Given the description of an element on the screen output the (x, y) to click on. 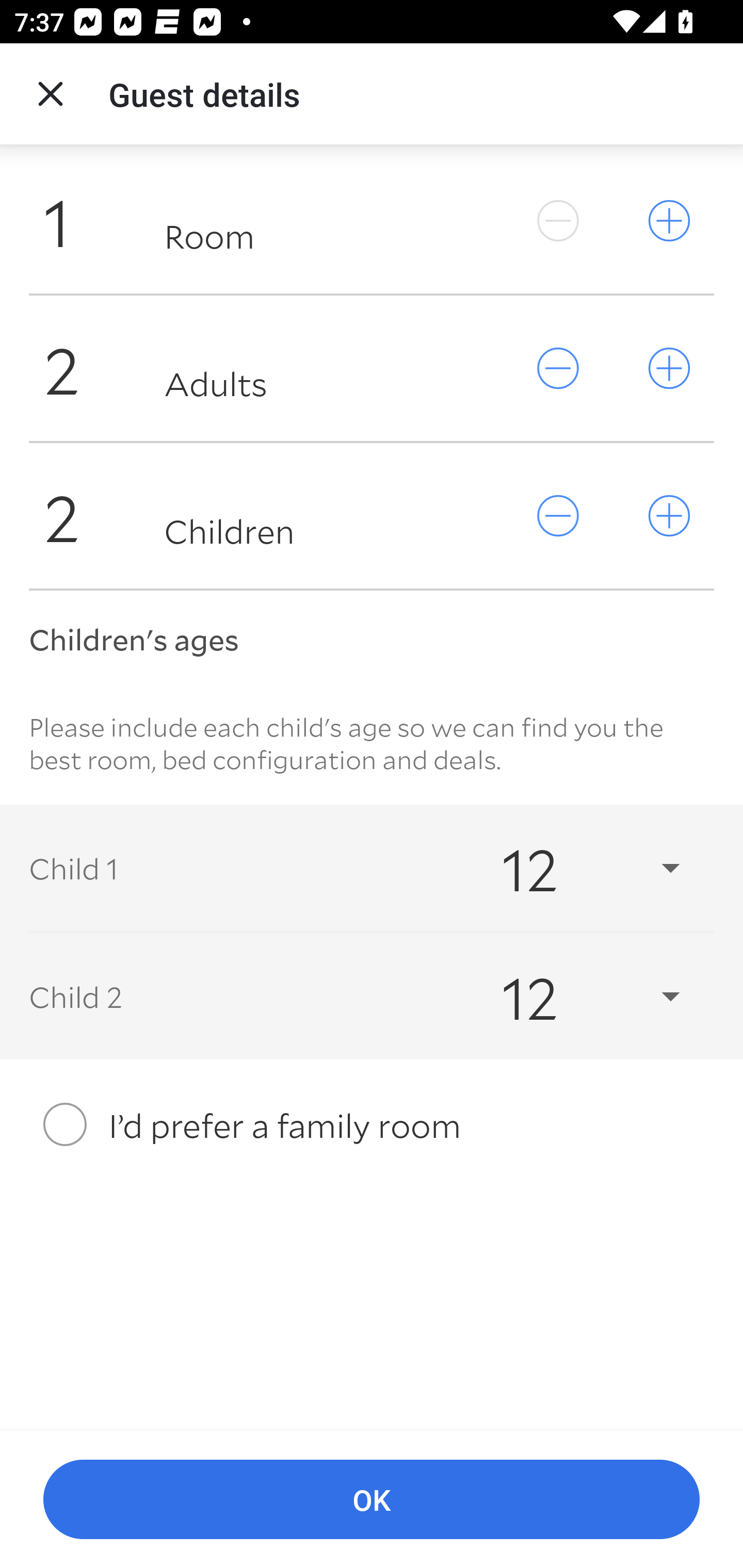
12 (573, 867)
12 (573, 996)
I’d prefer a family room (371, 1124)
OK (371, 1499)
